Given the description of an element on the screen output the (x, y) to click on. 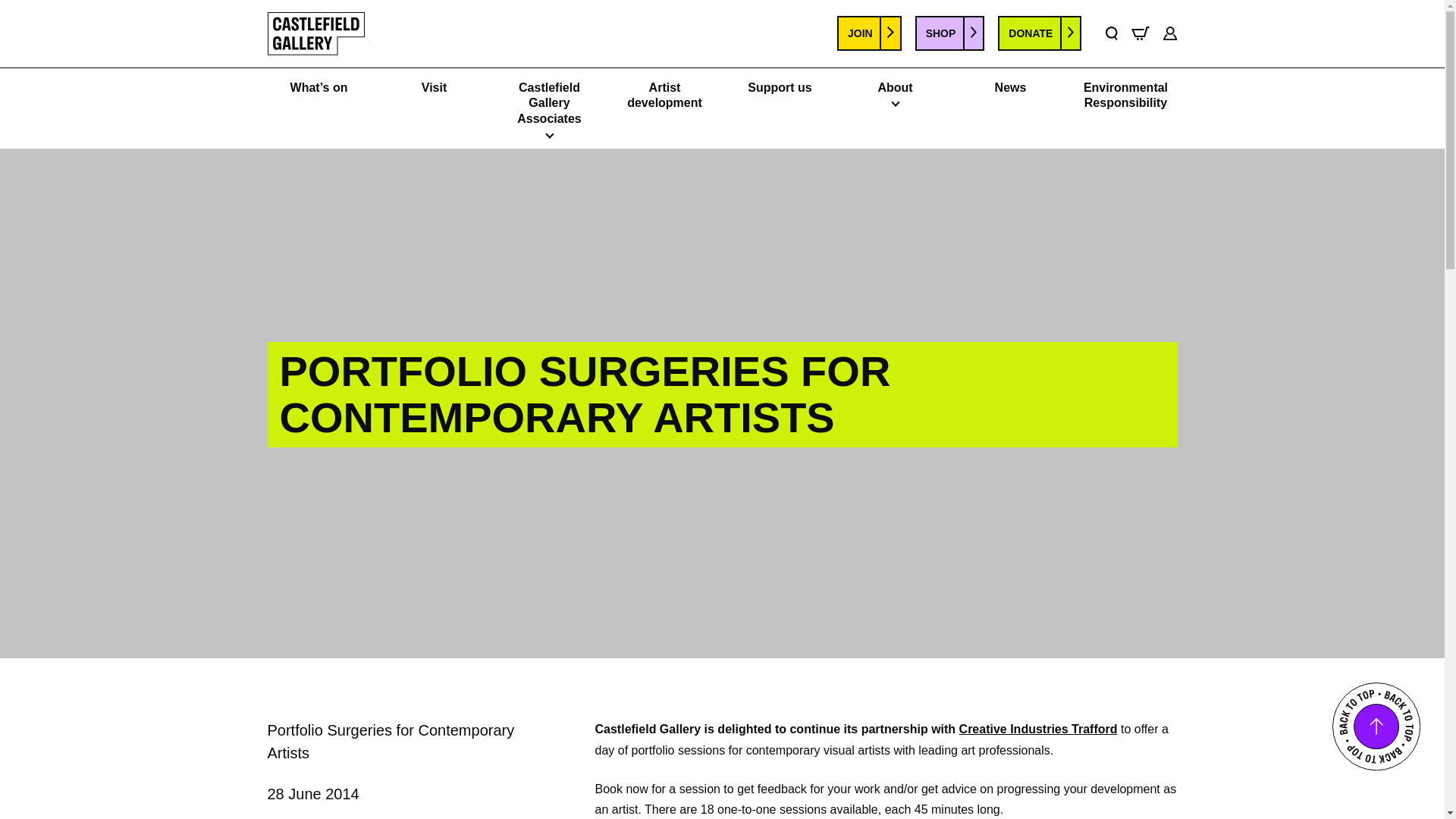
DONATE (1039, 32)
Account (1169, 33)
Artist development (664, 96)
Environmental Responsibility (1125, 96)
Visit (434, 88)
Open (894, 108)
JOIN (869, 32)
Creative Industries Trafford (1038, 728)
SKIP TO CONTENT (19, 10)
Open (548, 139)
